Given the description of an element on the screen output the (x, y) to click on. 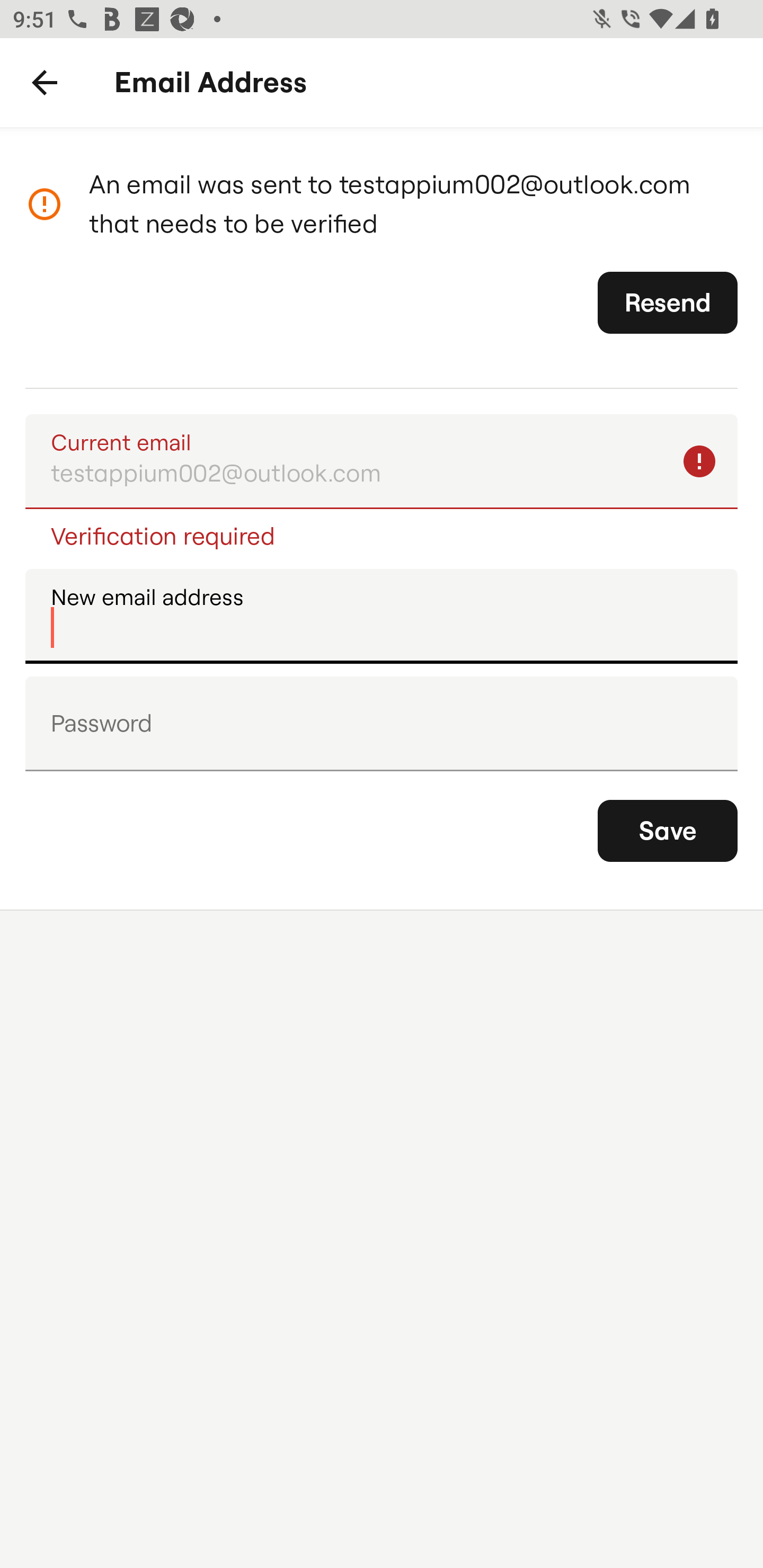
Back (44, 82)
Resend (667, 302)
testappium002@outlook.com (381, 461)
New email address (381, 616)
Password (381, 723)
Save (667, 830)
